Given the description of an element on the screen output the (x, y) to click on. 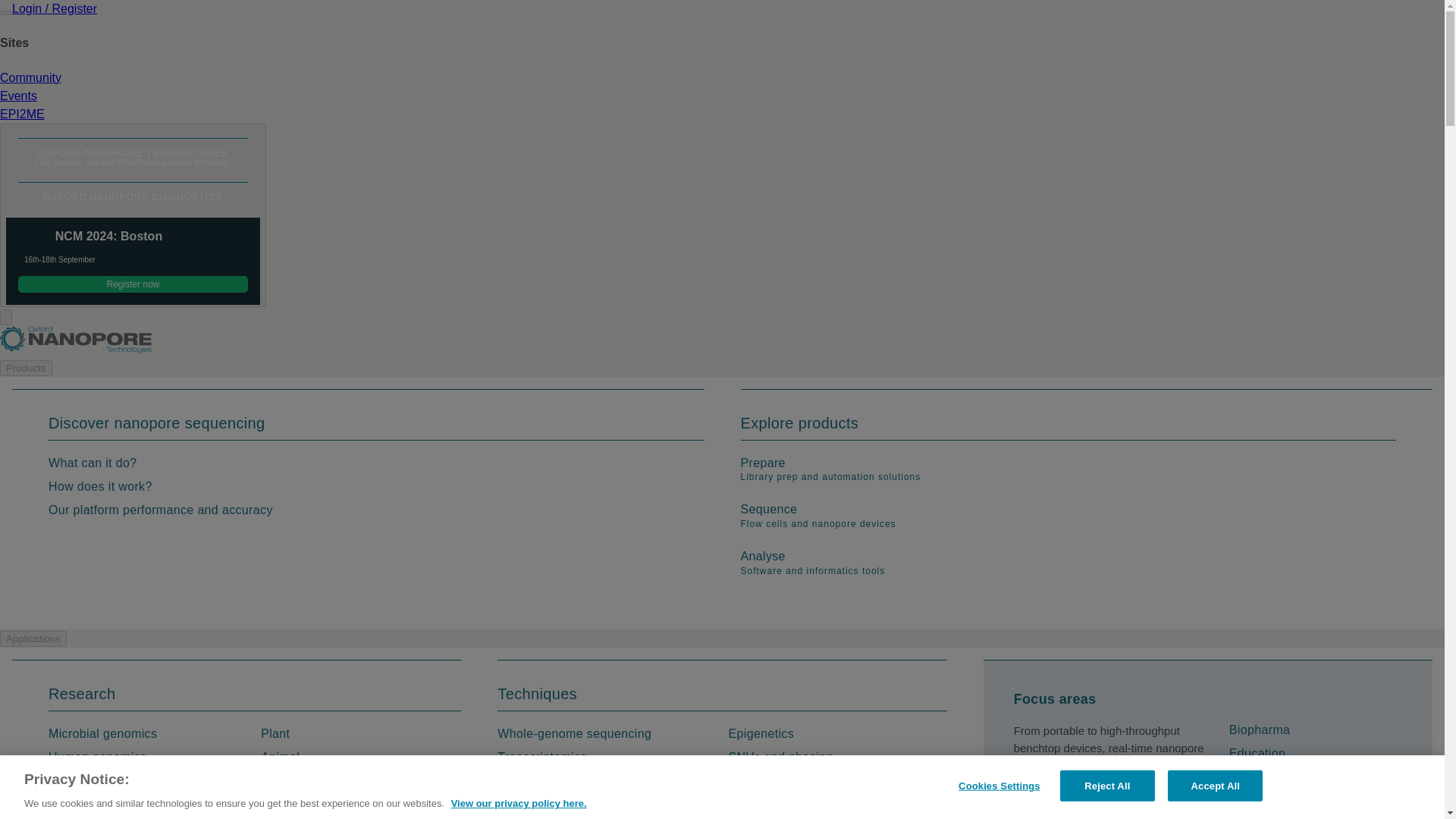
How does it work? (100, 485)
Microbiome (293, 780)
Metagenomics (538, 803)
SNVs and phasing (780, 757)
Microbial genomics (102, 732)
Infectious disease (98, 803)
Whole-genome sequencing (573, 732)
Cancer research (95, 780)
Plant (829, 474)
Assembly (274, 732)
Our platform performance and accuracy (755, 780)
Animal (160, 509)
Fusion transcripts (279, 757)
Multiomics (778, 803)
